Given the description of an element on the screen output the (x, y) to click on. 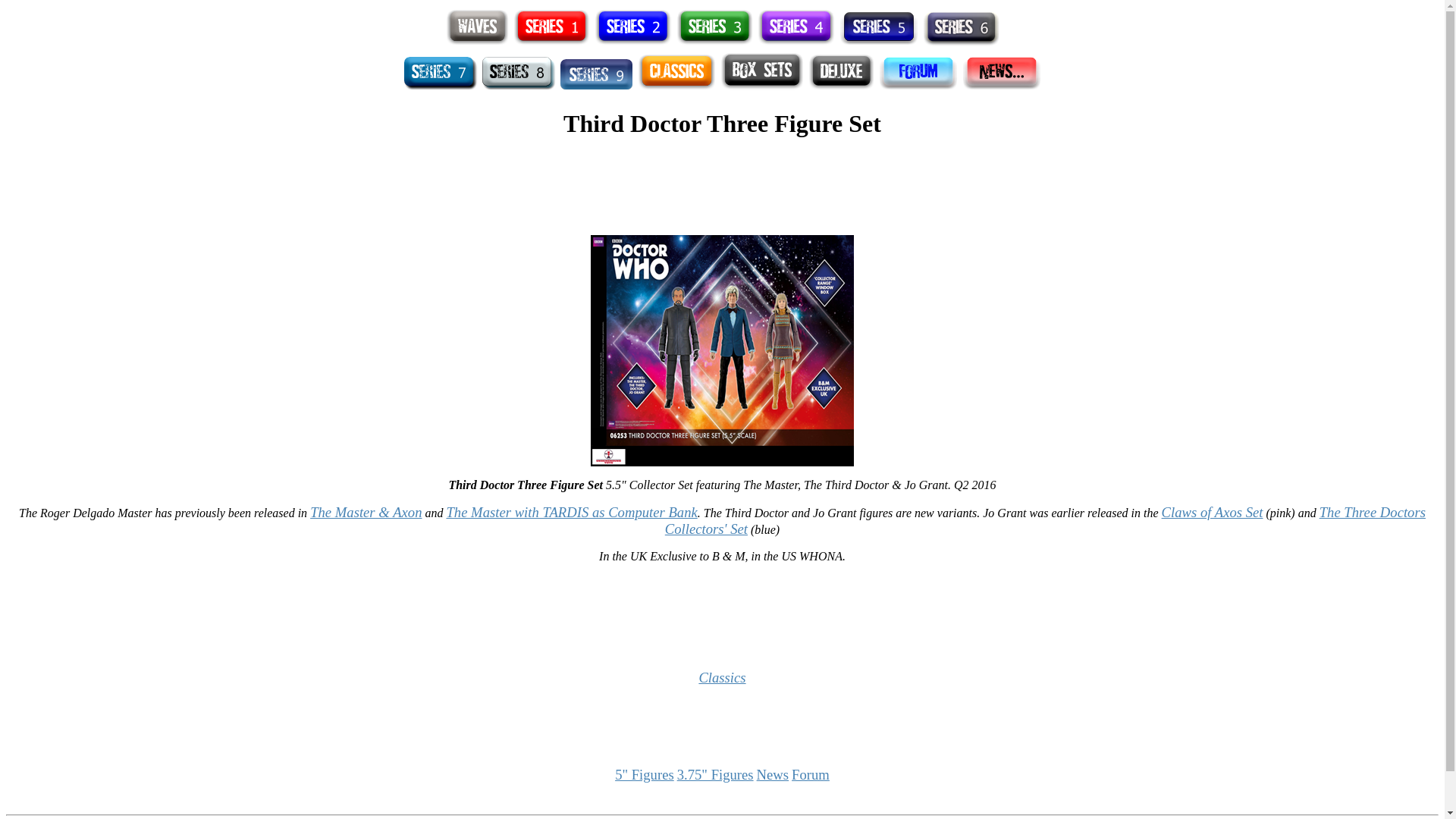
Advertisement (721, 188)
The Master with TARDIS as Computer Bank (571, 512)
Forum (810, 774)
Advertisement (721, 802)
3.75" Figures (715, 774)
Advertisement (721, 609)
Claws of Axos Set (1212, 512)
News (773, 774)
The Three Doctors Collectors' Set (1045, 520)
5" Figures (644, 774)
